Given the description of an element on the screen output the (x, y) to click on. 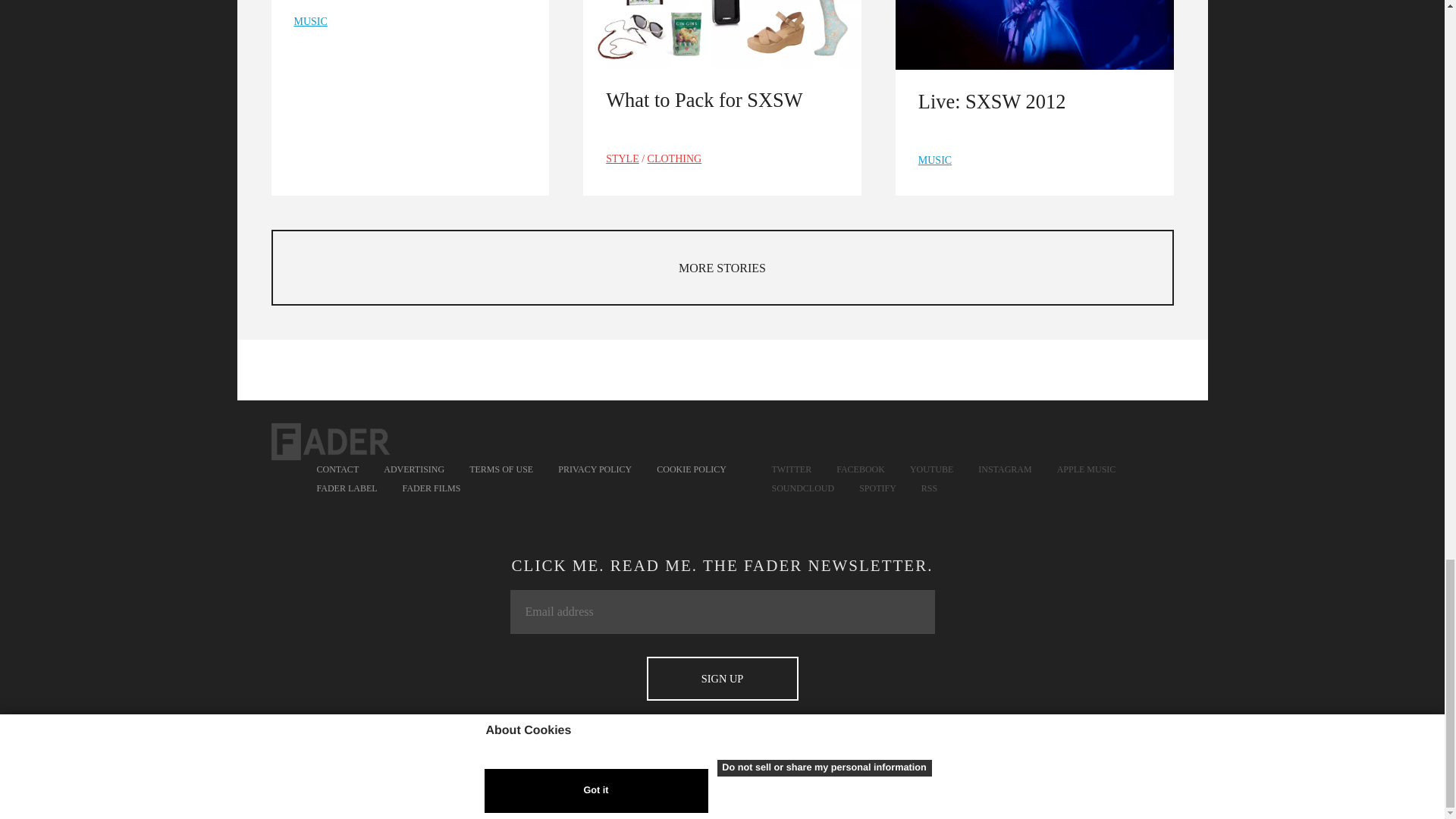
Sign Up (721, 678)
